Given the description of an element on the screen output the (x, y) to click on. 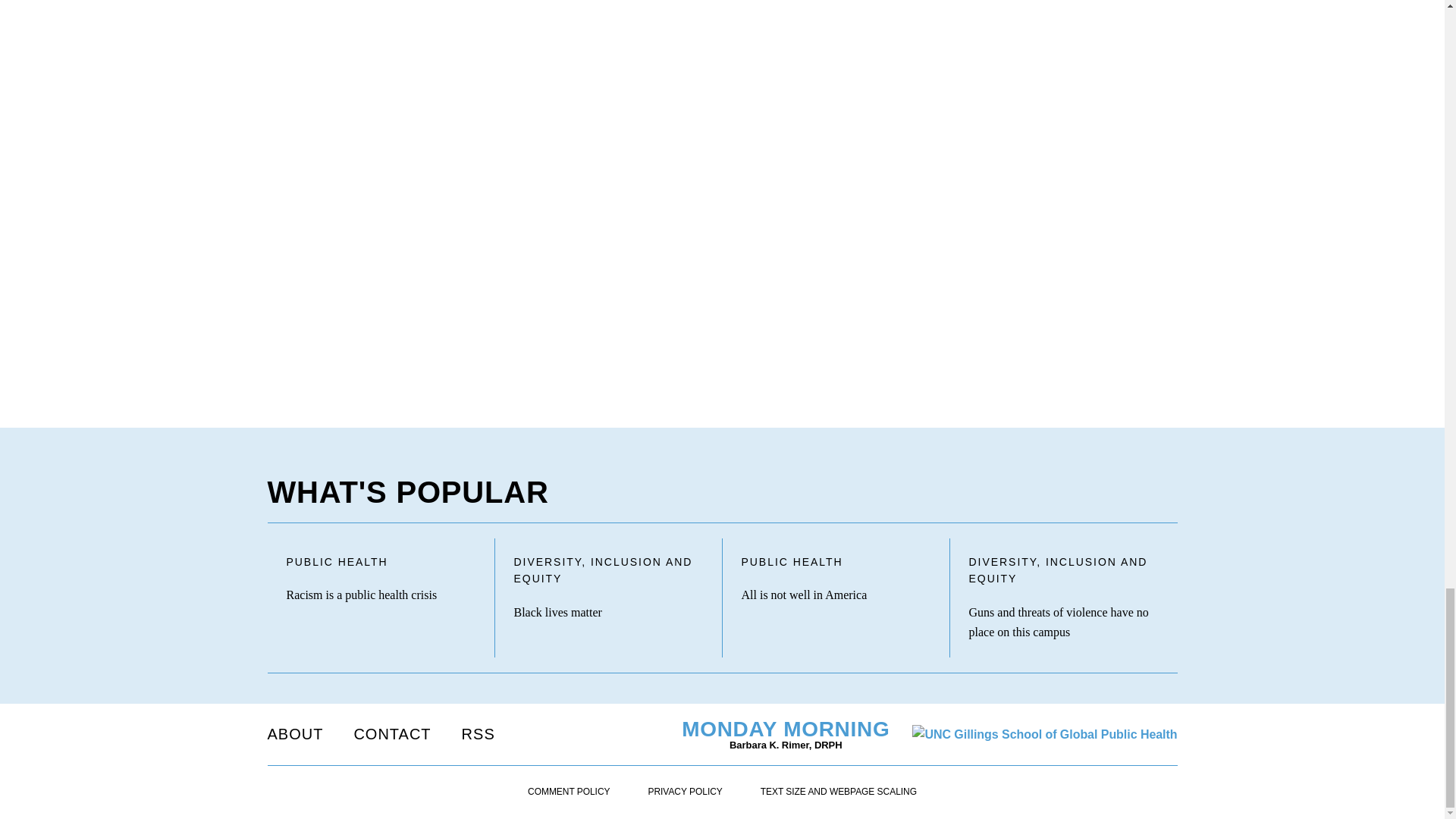
DIVERSITY, INCLUSION AND EQUITY (608, 570)
ABOUT (294, 733)
DIVERSITY, INCLUSION AND EQUITY (1063, 570)
RSS (478, 733)
Black lives matter (608, 612)
PUBLIC HEALTH (835, 561)
Racism is a public health crisis (381, 595)
Guns and threats of violence have no place on this campus (1063, 622)
CONTACT (391, 733)
All is not well in America (835, 595)
